Given the description of an element on the screen output the (x, y) to click on. 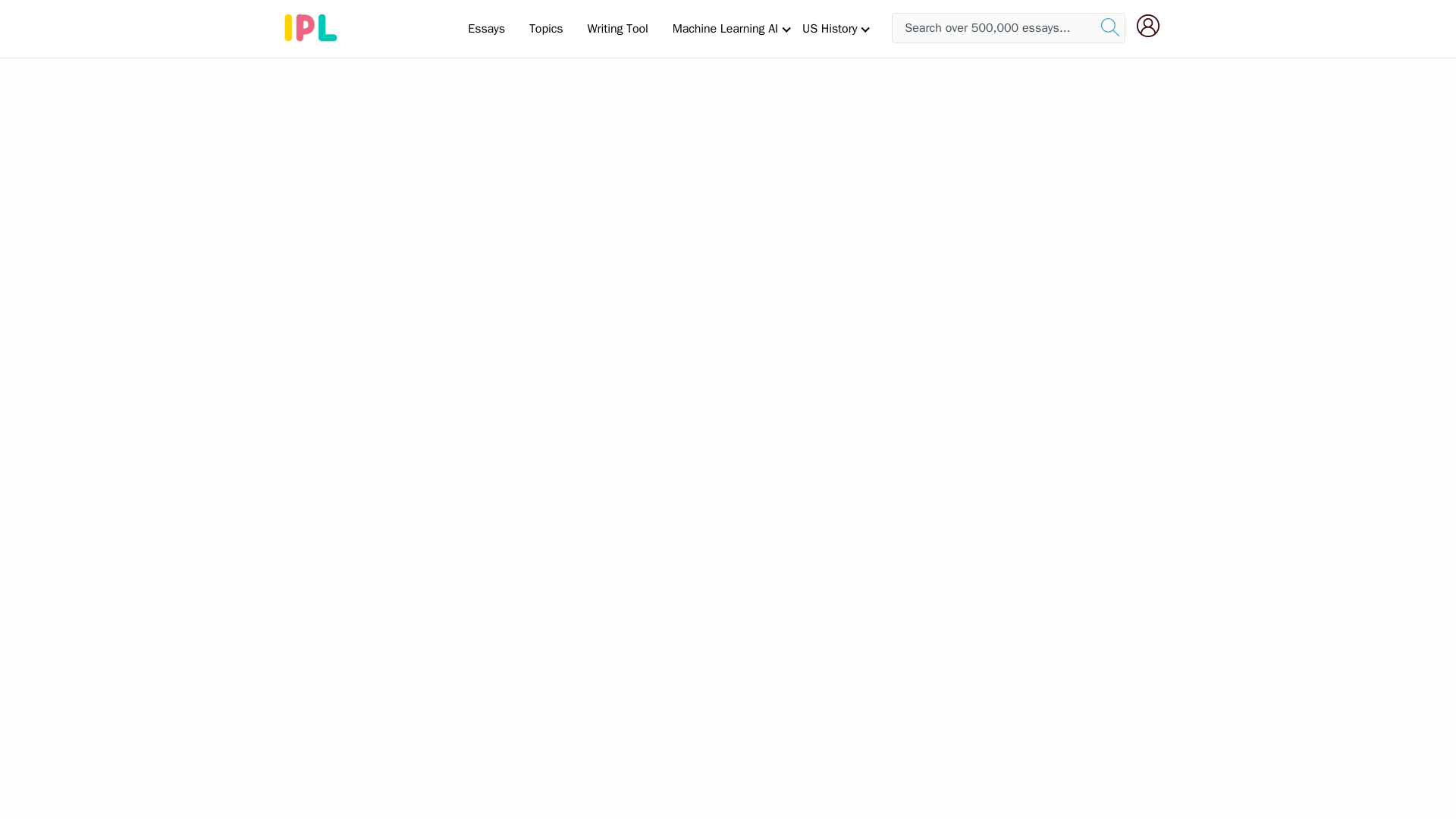
Topics (545, 28)
Essays (485, 28)
Machine Learning AI (725, 28)
US History (829, 28)
Writing Tool (617, 28)
